Given the description of an element on the screen output the (x, y) to click on. 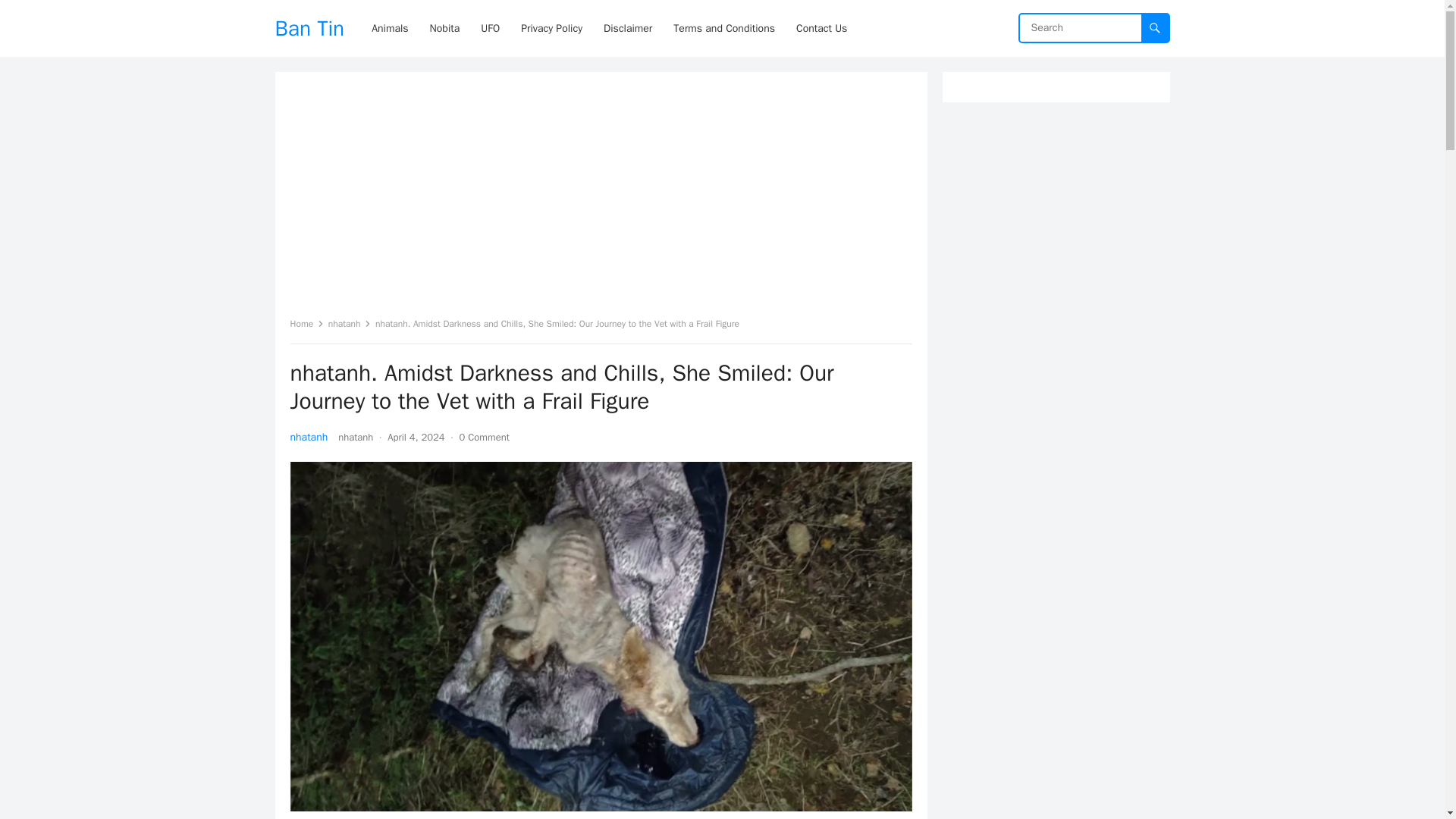
Home (306, 323)
Privacy Policy (551, 28)
Ban Tin (309, 28)
Terms and Conditions (723, 28)
Posts by nhatanh (354, 436)
Contact Us (821, 28)
0 Comment (484, 436)
nhatanh (350, 323)
Animals (389, 28)
nhatanh (354, 436)
Disclaimer (627, 28)
nhatanh (308, 436)
